Given the description of an element on the screen output the (x, y) to click on. 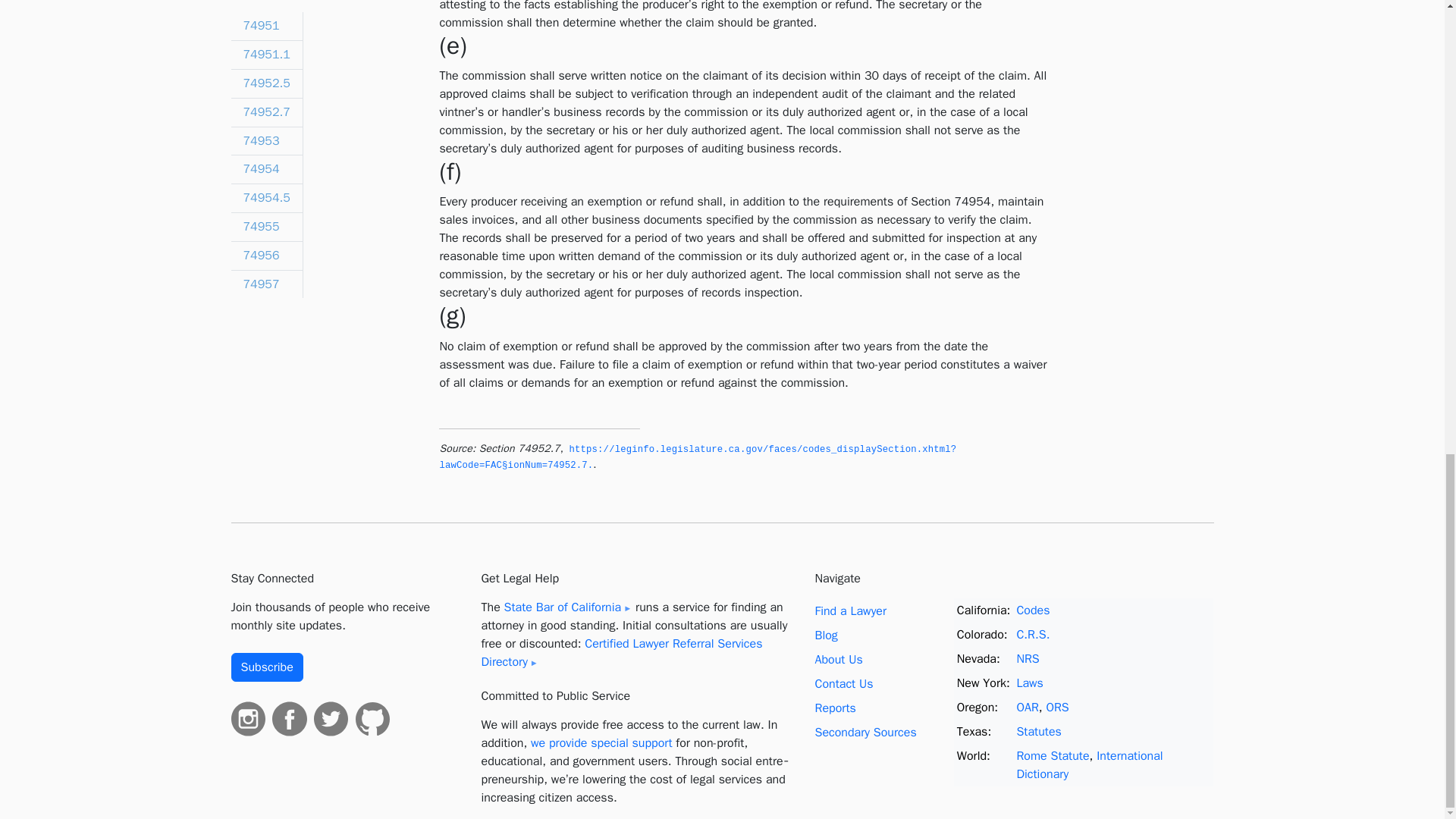
State Bar of California (567, 607)
Advertisement (1138, 62)
Codes (1032, 610)
Reports (834, 708)
About Us (837, 659)
Certified Lawyer Referral Services Directory (620, 652)
we provide special support (601, 743)
Find a Lawyer (849, 611)
Contact Us (842, 683)
Secondary Sources (864, 732)
Subscribe (266, 666)
Blog (825, 635)
